Given the description of an element on the screen output the (x, y) to click on. 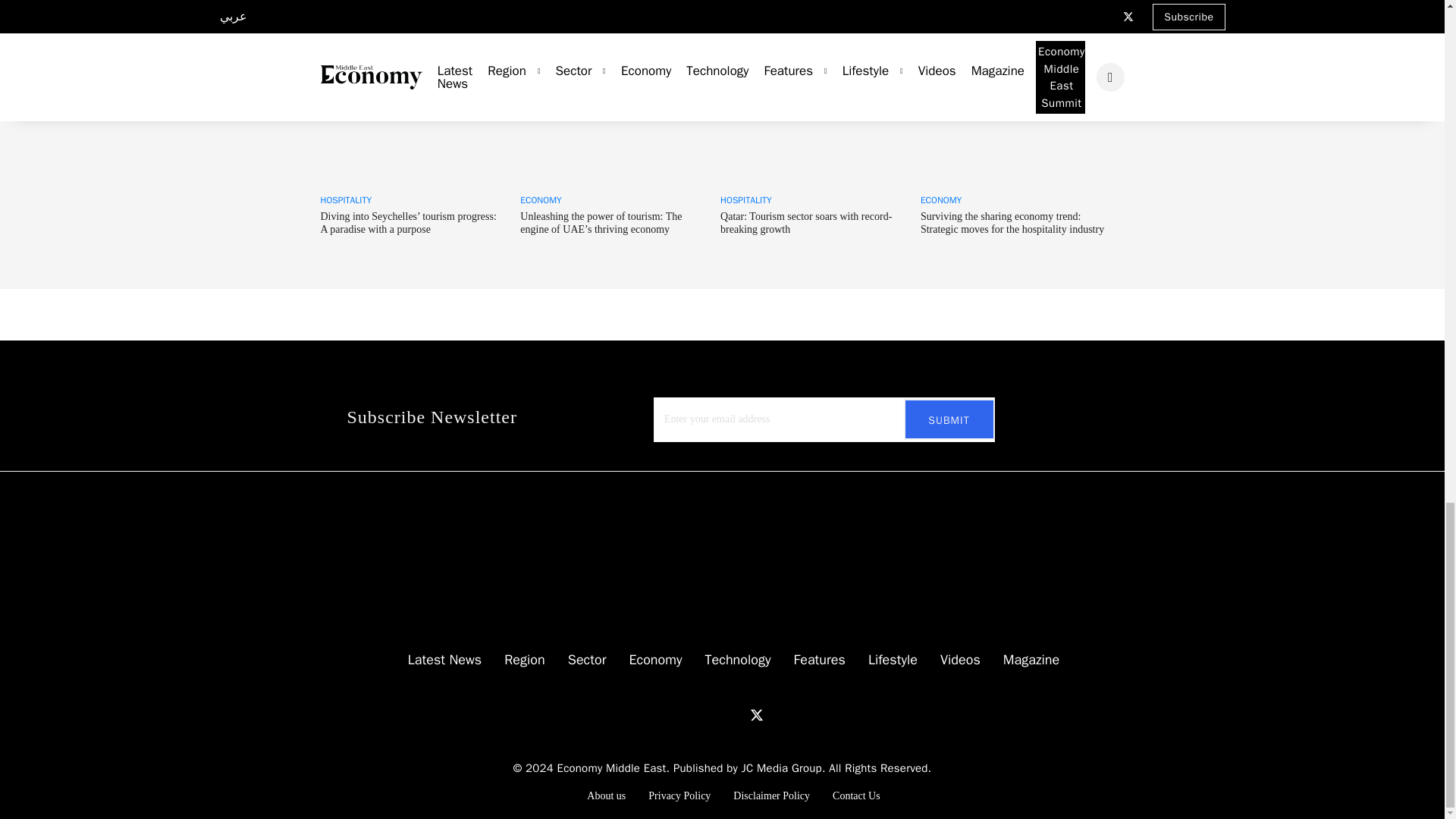
YouTube (704, 707)
Twitter (756, 714)
LinkedIn (681, 707)
Instagram (727, 707)
Submit (949, 418)
